Given the description of an element on the screen output the (x, y) to click on. 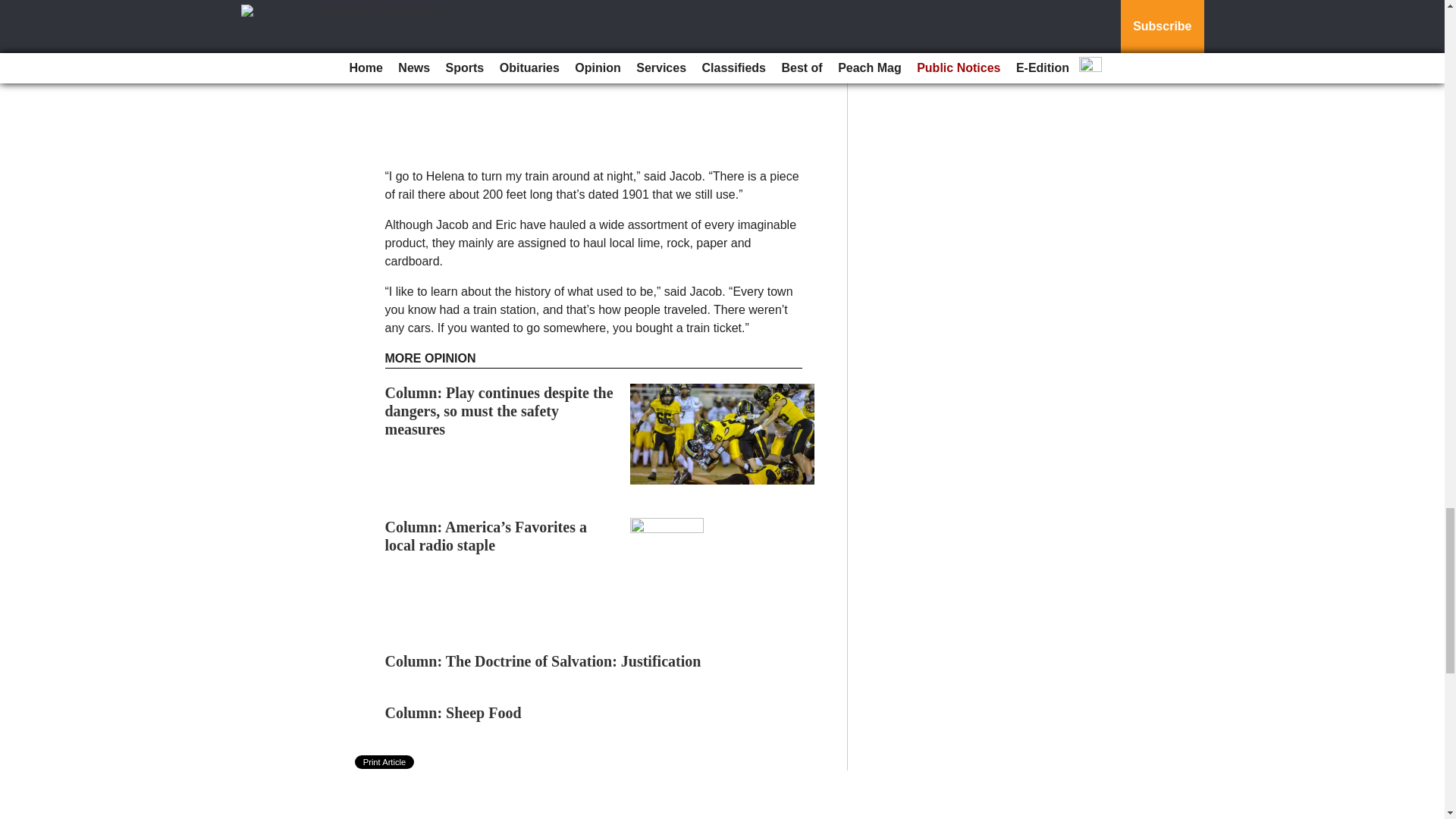
Column: Sheep Food  (455, 712)
Print Article (384, 762)
Column: The Doctrine of Salvation: Justification (543, 660)
Column: The Doctrine of Salvation: Justification (543, 660)
